Given the description of an element on the screen output the (x, y) to click on. 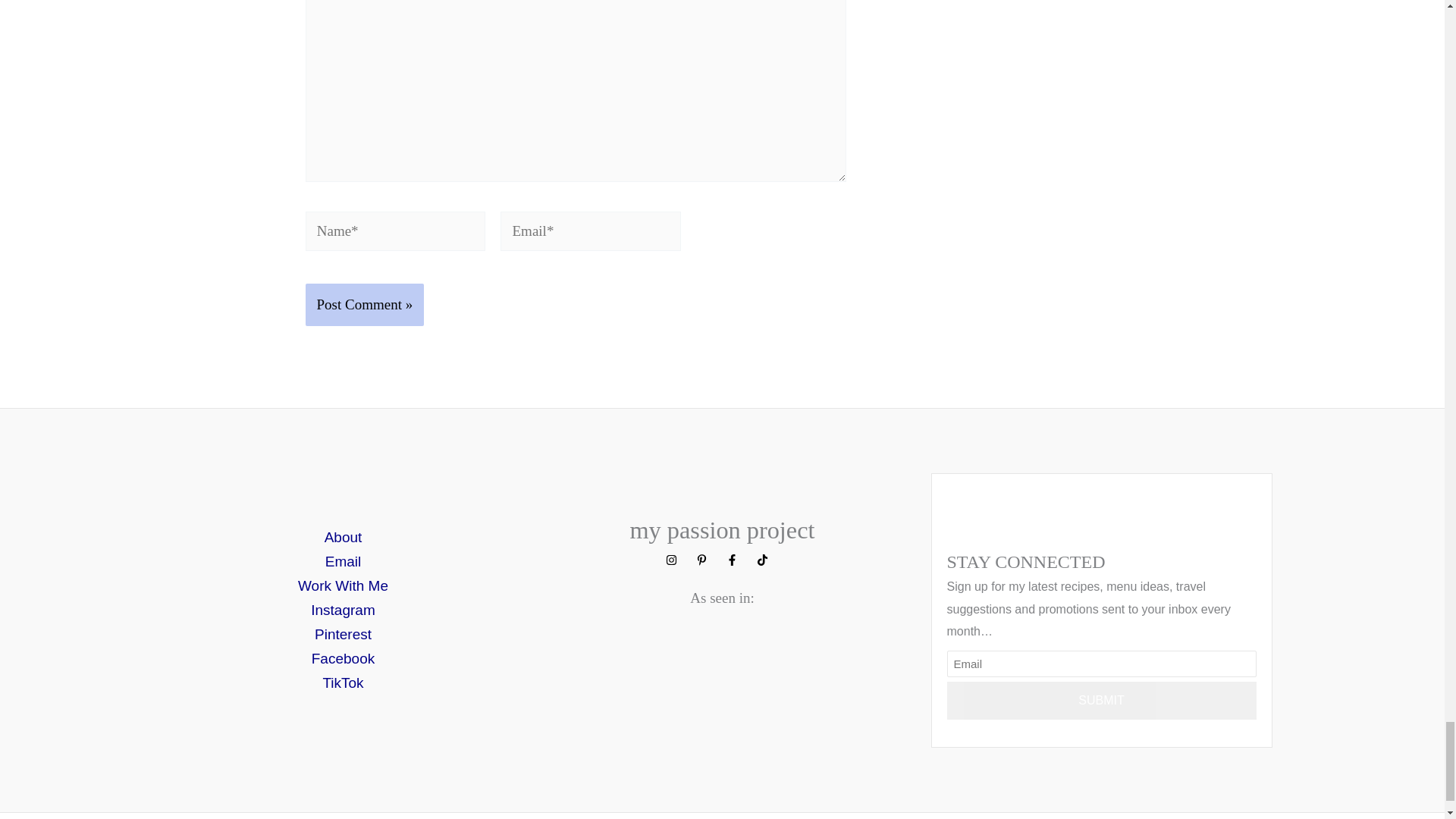
Submit (1100, 700)
